Given the description of an element on the screen output the (x, y) to click on. 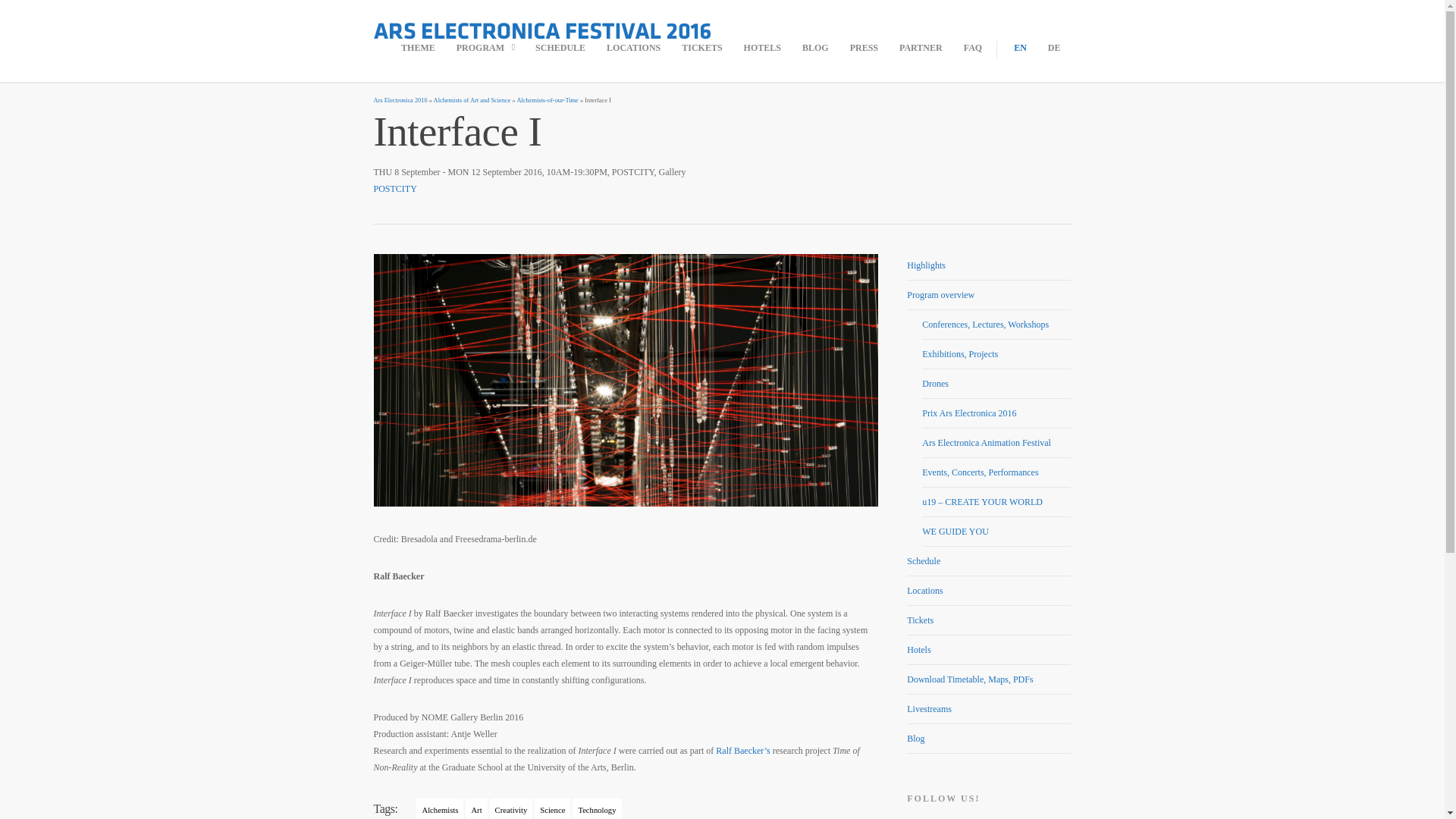
THEME (418, 47)
English (1020, 47)
DE (1054, 47)
EN (1020, 47)
FAQ (972, 47)
BLOG (815, 47)
PRESS (864, 47)
TICKETS (701, 47)
PROGRAM (485, 47)
HOTELS (761, 47)
LOCATIONS (632, 47)
PARTNER (920, 47)
SCHEDULE (560, 47)
Deutsch (1054, 47)
POSTCITY (394, 188)
